Given the description of an element on the screen output the (x, y) to click on. 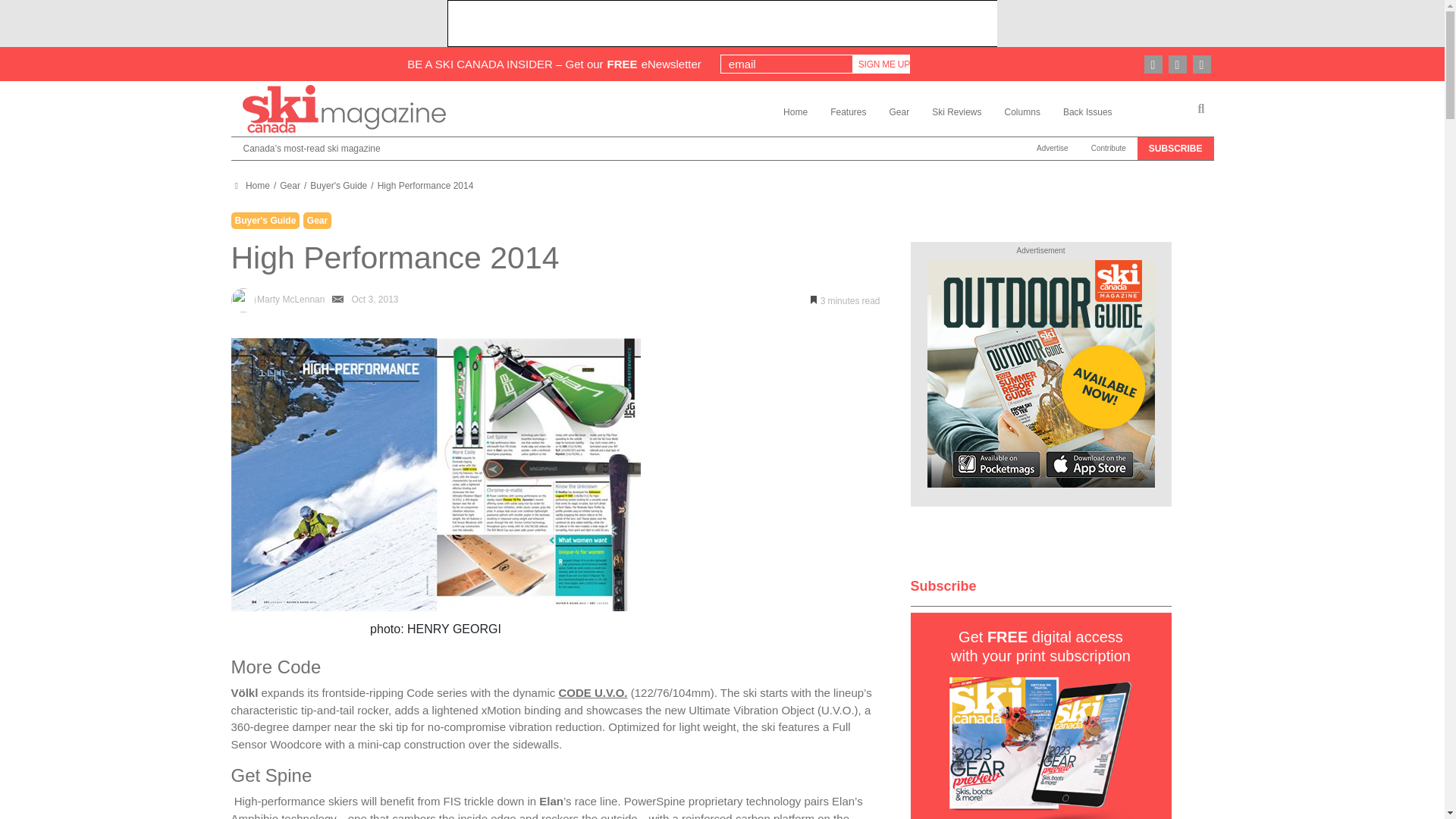
Features (847, 111)
Search (1201, 108)
click to enlarge (435, 474)
Advertise (1052, 148)
instagram (1151, 63)
Contribute (1108, 148)
SIGN ME UP (884, 63)
Home (794, 111)
Home (257, 185)
twitter (1200, 63)
Ski Reviews (956, 111)
SIGN ME UP (884, 63)
Columns (1021, 111)
Back Issues (1087, 111)
SUBSCRIBE (1175, 148)
